Given the description of an element on the screen output the (x, y) to click on. 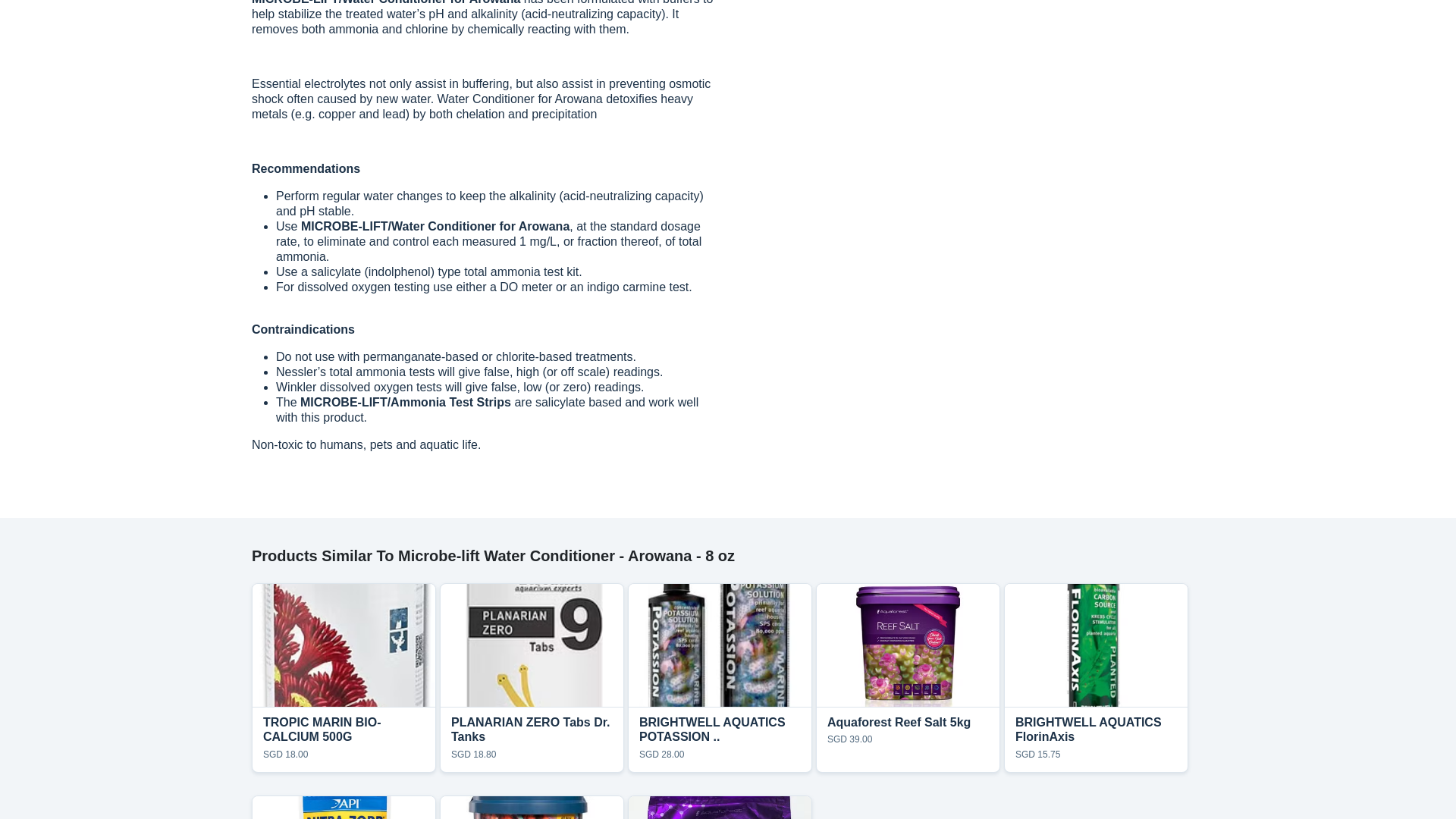
Ammonia Test Strips (719, 739)
